Given the description of an element on the screen output the (x, y) to click on. 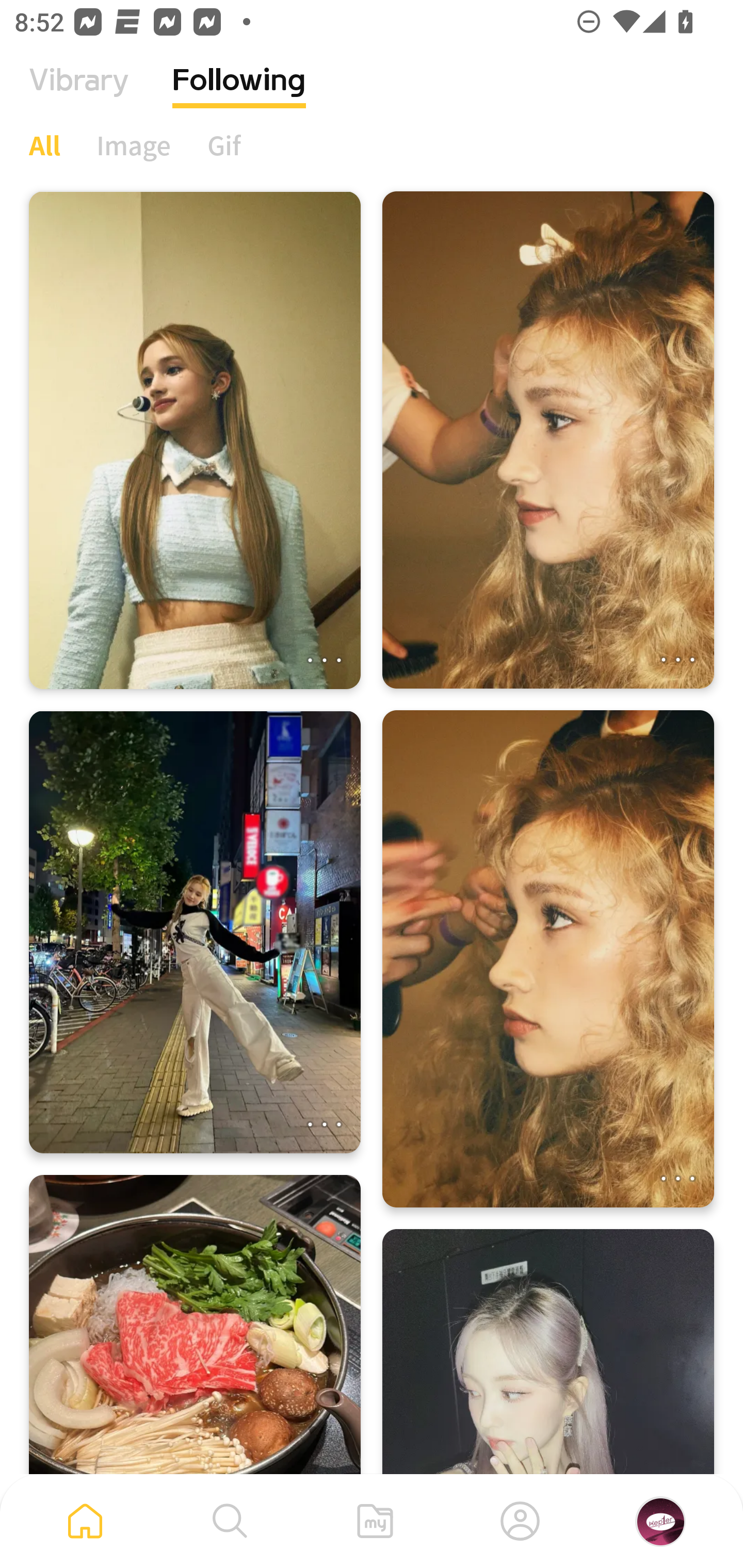
Vibrary (78, 95)
Following (239, 95)
All (44, 145)
Image (133, 145)
Gif (223, 145)
